Given the description of an element on the screen output the (x, y) to click on. 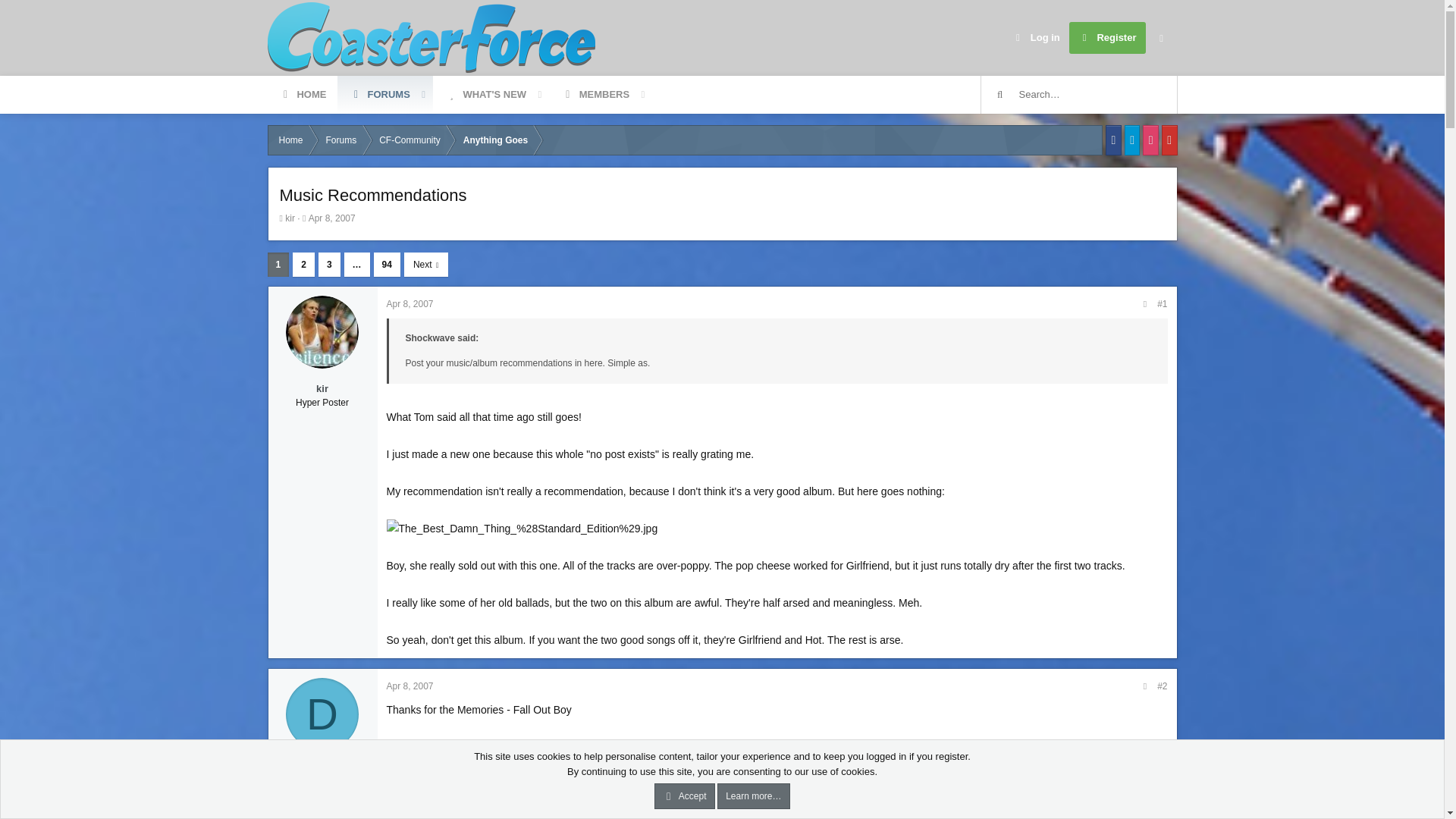
Apr 8, 2007 at 11:33 AM (459, 94)
Home (410, 685)
Forums (290, 140)
WHAT'S NEW (341, 140)
Log in (484, 94)
CF-Community (1035, 38)
Register (409, 140)
Apr 8, 2007 at 3:31 AM (1106, 38)
HOME (410, 303)
Apr 8, 2007 at 3:31 AM (459, 112)
MEMBERS (301, 94)
FORUMS (331, 217)
